Given the description of an element on the screen output the (x, y) to click on. 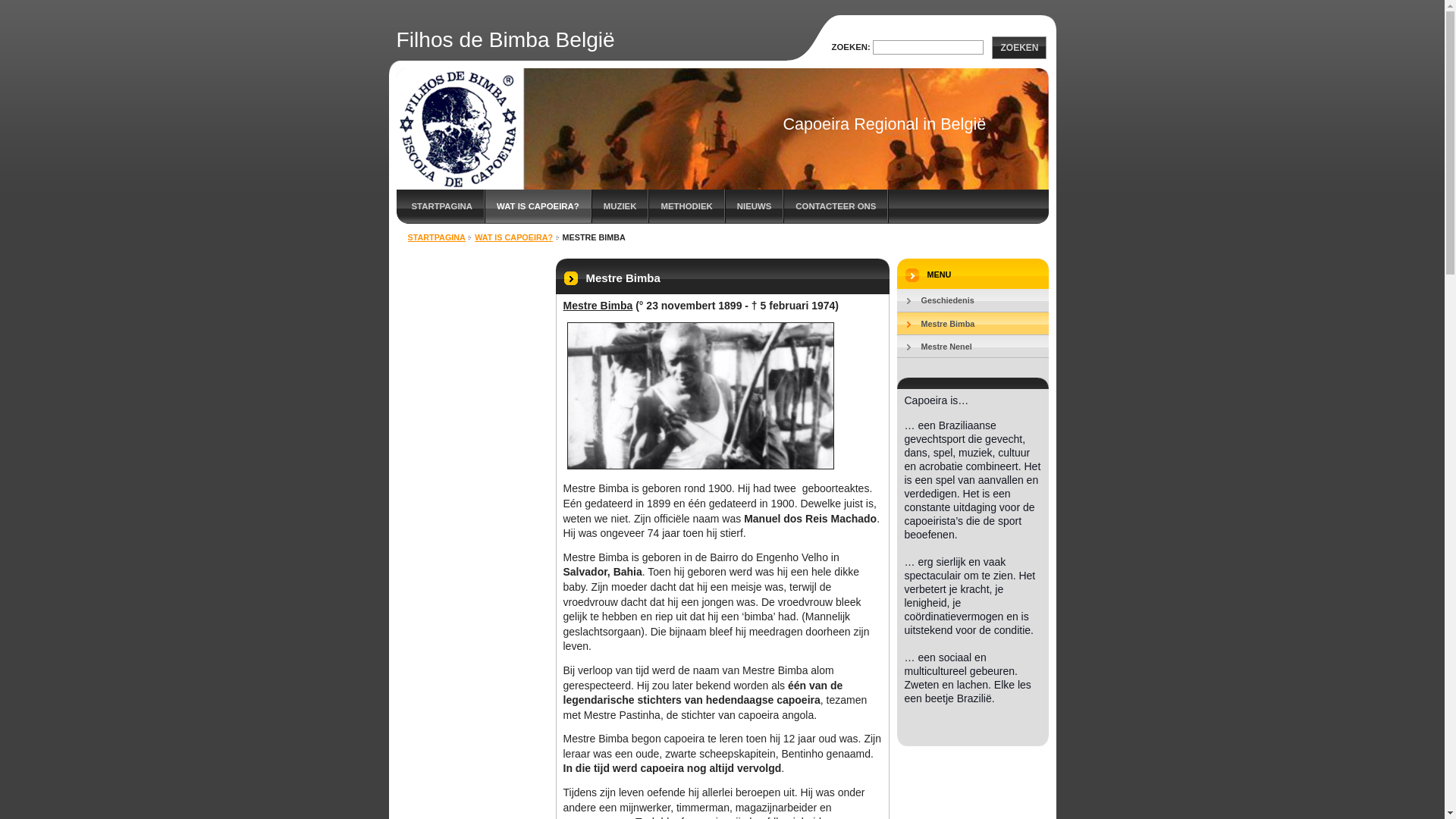
NIEUWS Element type: text (754, 206)
Mestre Nenel Element type: text (972, 346)
ZOEKEN Element type: text (1018, 47)
WAT IS CAPOEIRA? Element type: text (513, 236)
STARTPAGINA Element type: text (436, 236)
STARTPAGINA Element type: text (439, 206)
METHODIEK Element type: text (686, 206)
Geschiedenis Element type: text (972, 299)
WAT IS CAPOEIRA? Element type: text (538, 206)
CONTACTEER ONS Element type: text (836, 206)
Mestre Bimba Element type: text (972, 323)
MUZIEK Element type: text (620, 206)
